Given the description of an element on the screen output the (x, y) to click on. 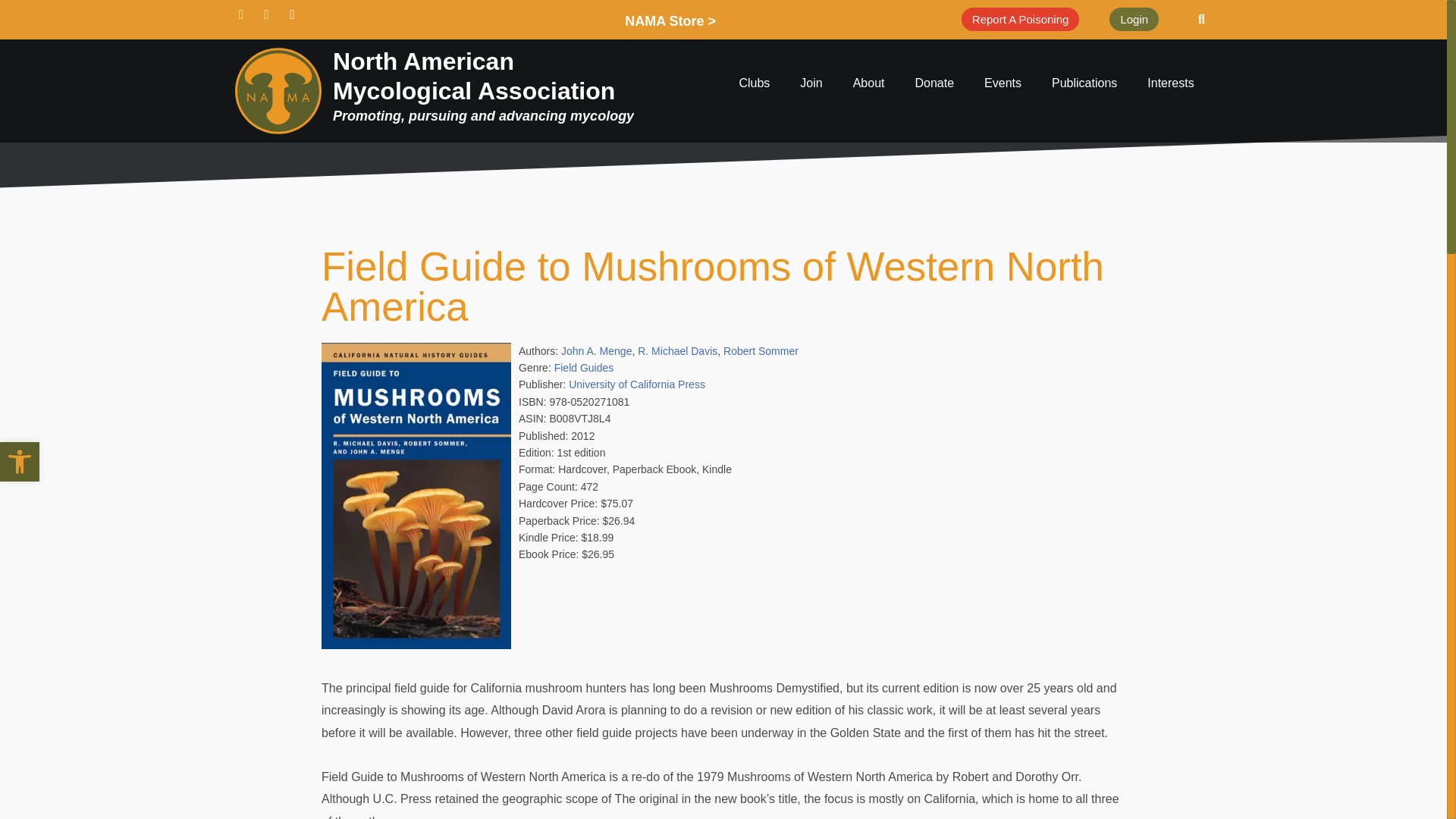
Login (1133, 19)
Interests (1170, 83)
Accessibility Tools (19, 461)
Donate (934, 83)
About (868, 83)
Publications (1084, 83)
Join (810, 83)
Events (1002, 83)
Facebook (271, 18)
